Given the description of an element on the screen output the (x, y) to click on. 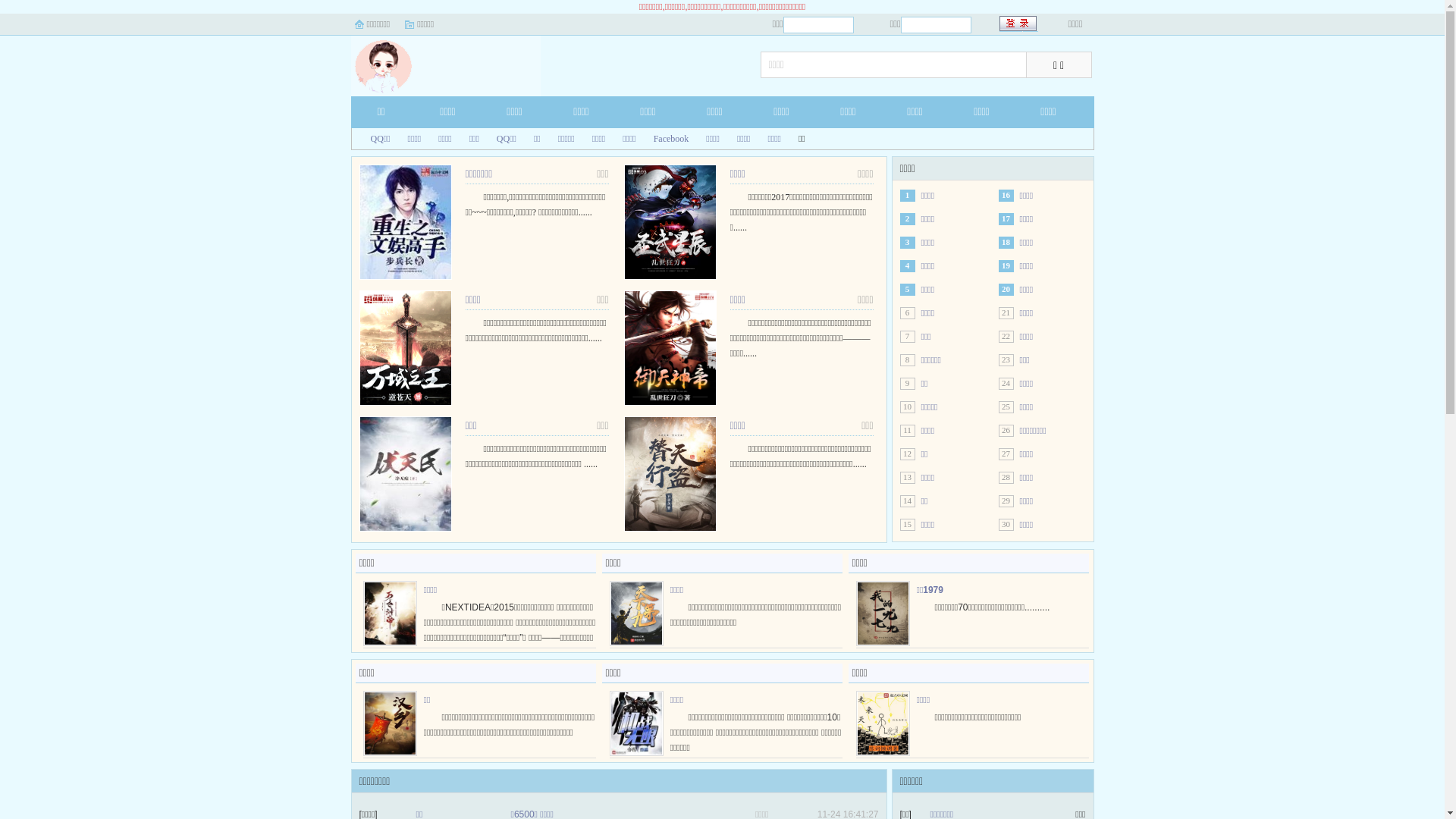
Facebook Element type: text (664, 138)
